Given the description of an element on the screen output the (x, y) to click on. 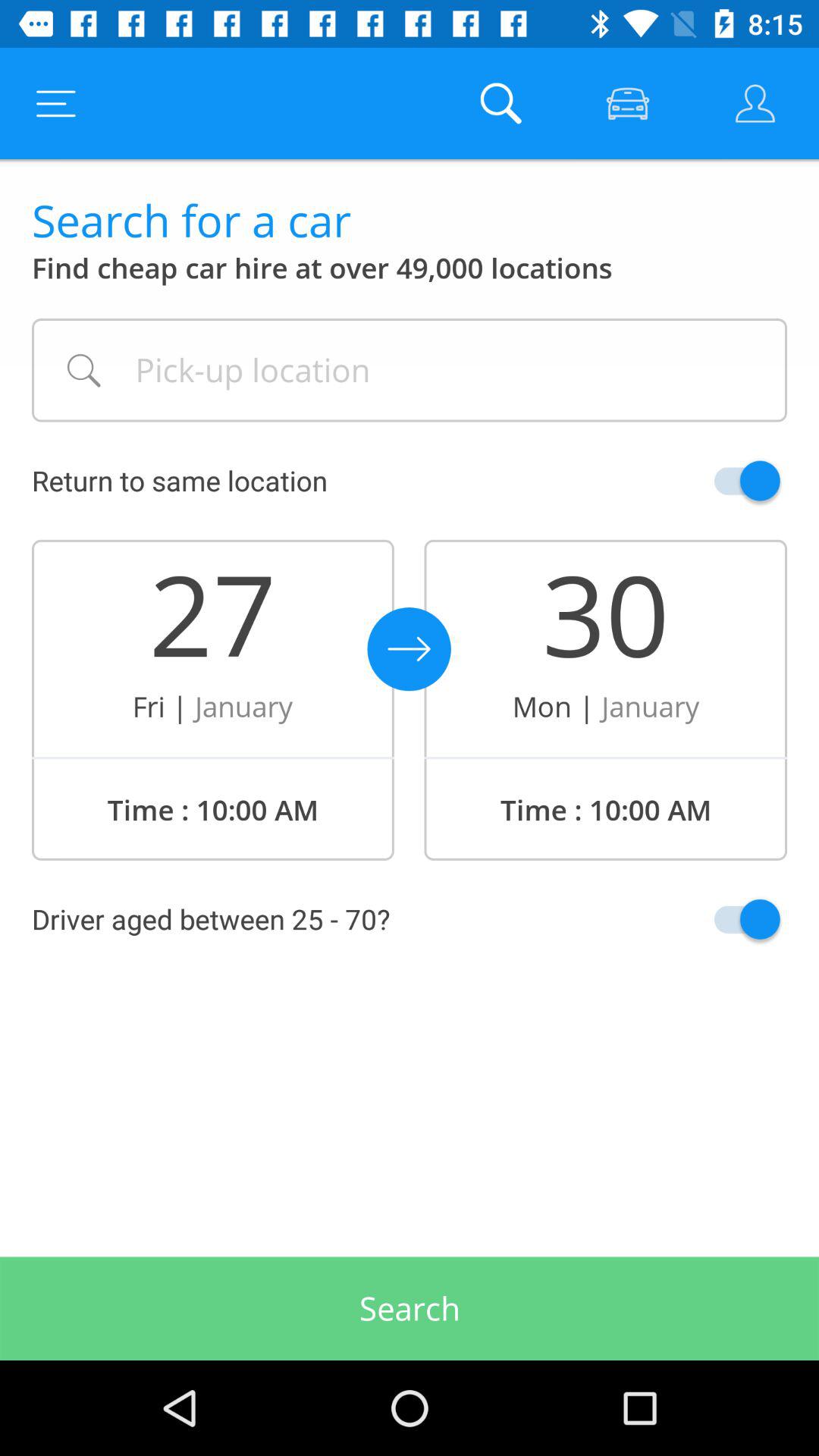
toggle return to same location (711, 480)
